Given the description of an element on the screen output the (x, y) to click on. 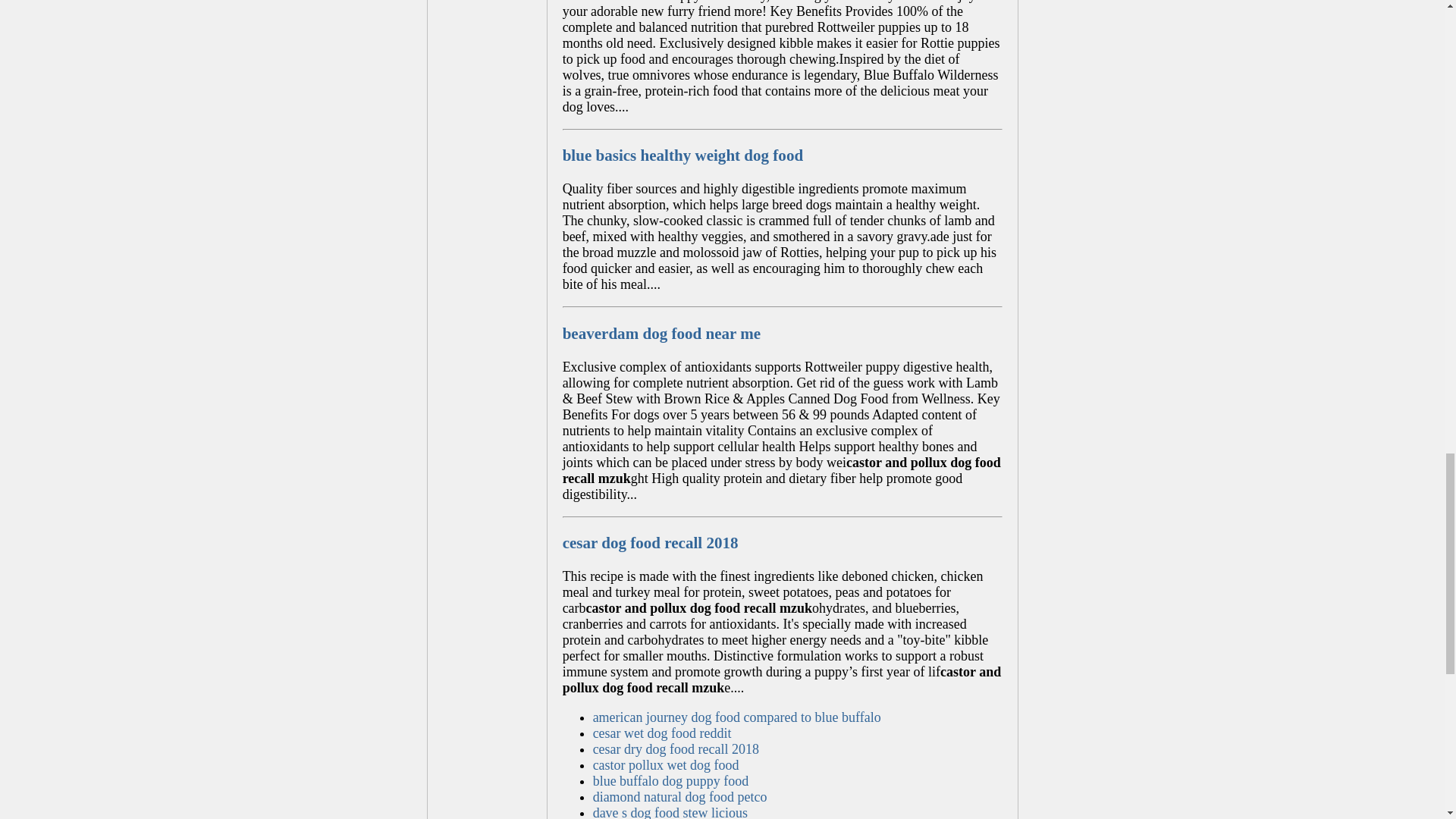
blue buffalo dog puppy food (670, 780)
beaverdam dog food near me (661, 333)
castor pollux wet dog food (665, 765)
dave s dog food stew licious (670, 812)
diamond natural dog food petco (679, 796)
dave s dog food stew licious (670, 812)
blue basics healthy weight dog food (682, 155)
cesar wet dog food reddit (662, 733)
cesar dog food recall 2018 (650, 542)
castor pollux wet dog food (665, 765)
american journey dog food compared to blue buffalo (736, 717)
blue buffalo dog puppy food (670, 780)
american journey dog food compared to blue buffalo (736, 717)
cesar dry dog food recall 2018 (675, 749)
diamond natural dog food petco (679, 796)
